Given the description of an element on the screen output the (x, y) to click on. 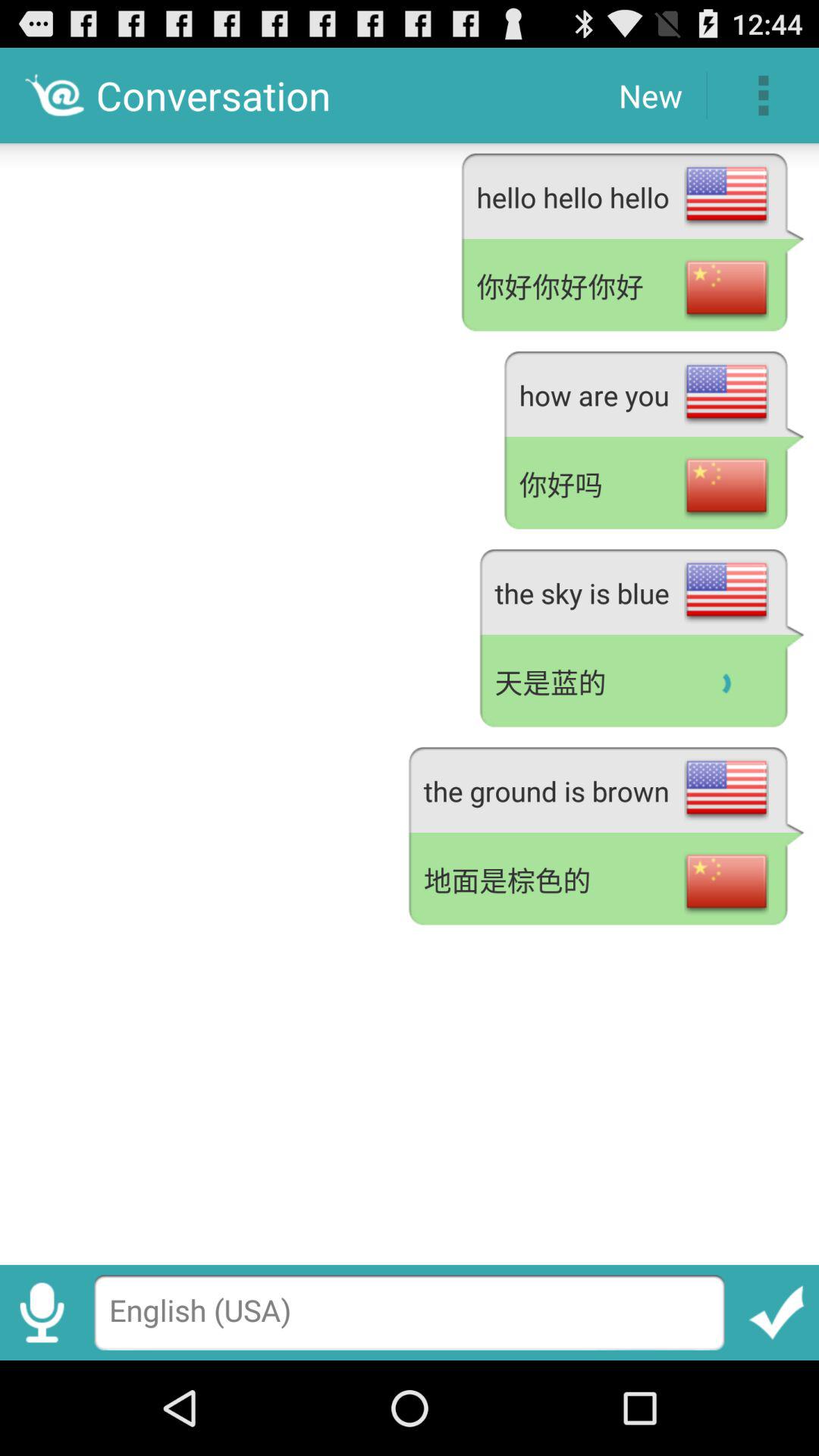
select app above the hello hello hello (650, 95)
